Given the description of an element on the screen output the (x, y) to click on. 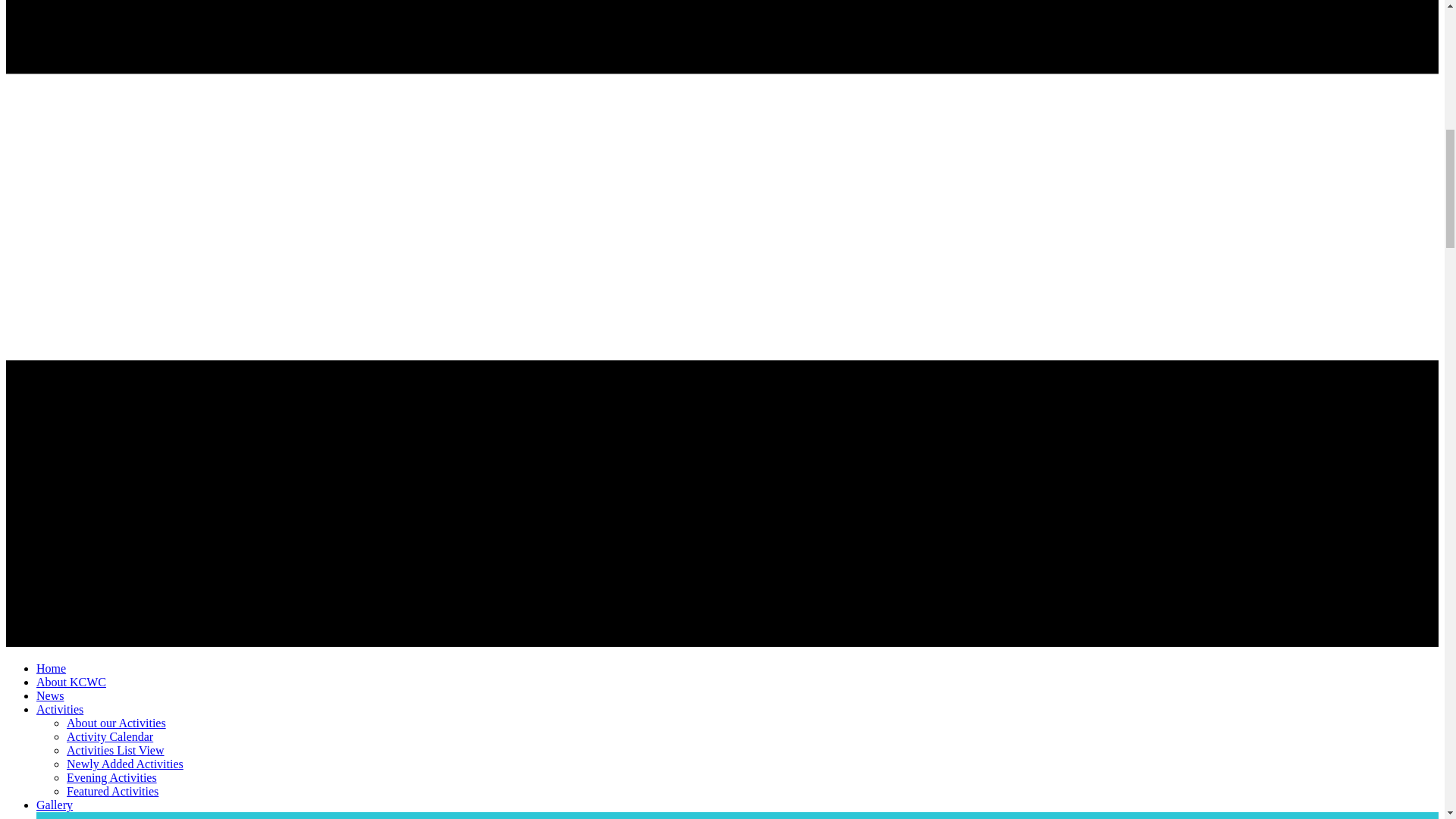
Newly Added Activities (124, 763)
Home (50, 667)
Evening Activities (111, 777)
Gallery (54, 804)
News (50, 695)
Activities (59, 708)
About our Activities (115, 722)
Activity Calendar (109, 736)
Activities List View (115, 749)
Featured Activities (112, 790)
